Given the description of an element on the screen output the (x, y) to click on. 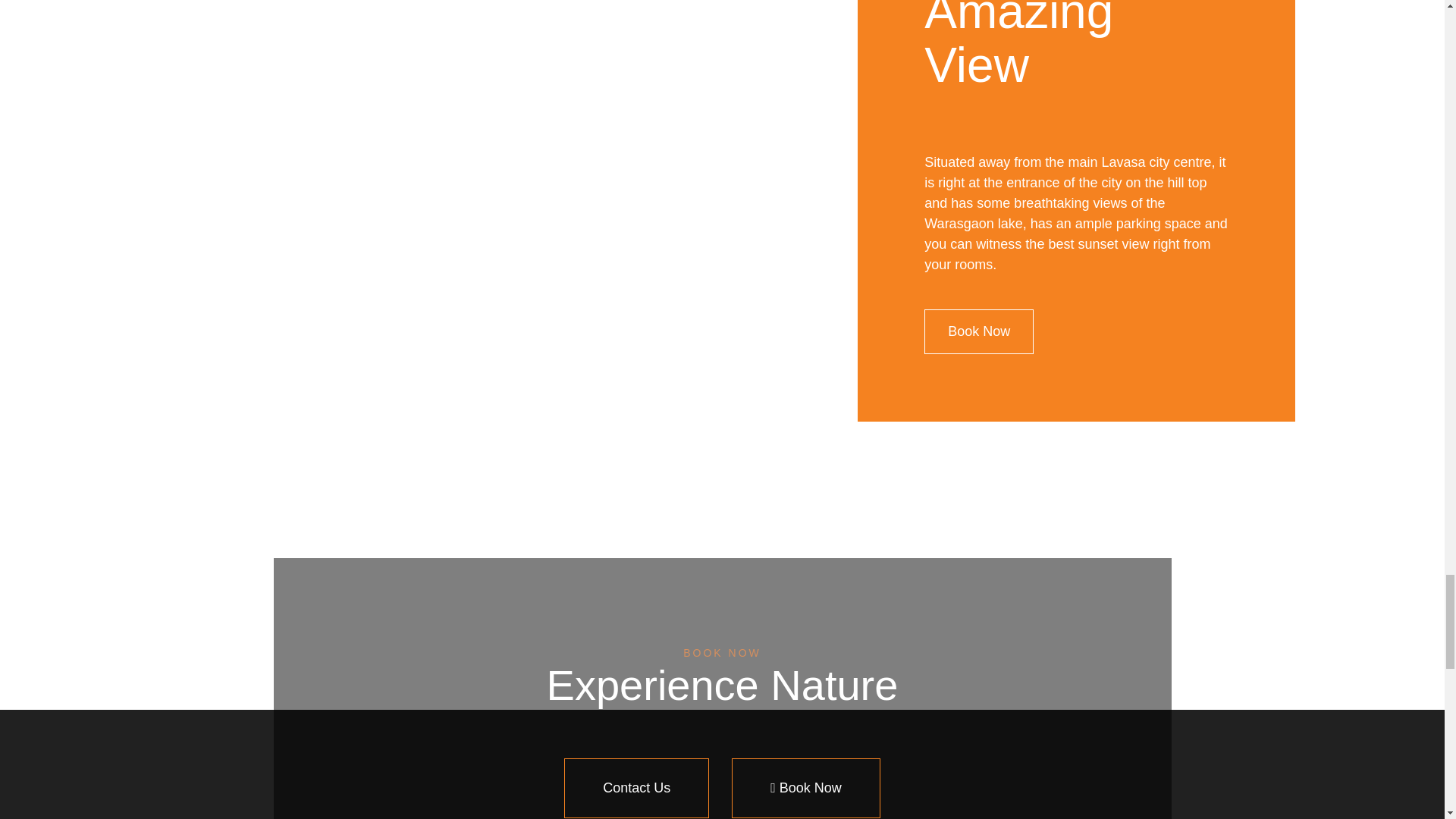
Book Now (806, 788)
Contact Us (636, 788)
Book Now (978, 331)
